Given the description of an element on the screen output the (x, y) to click on. 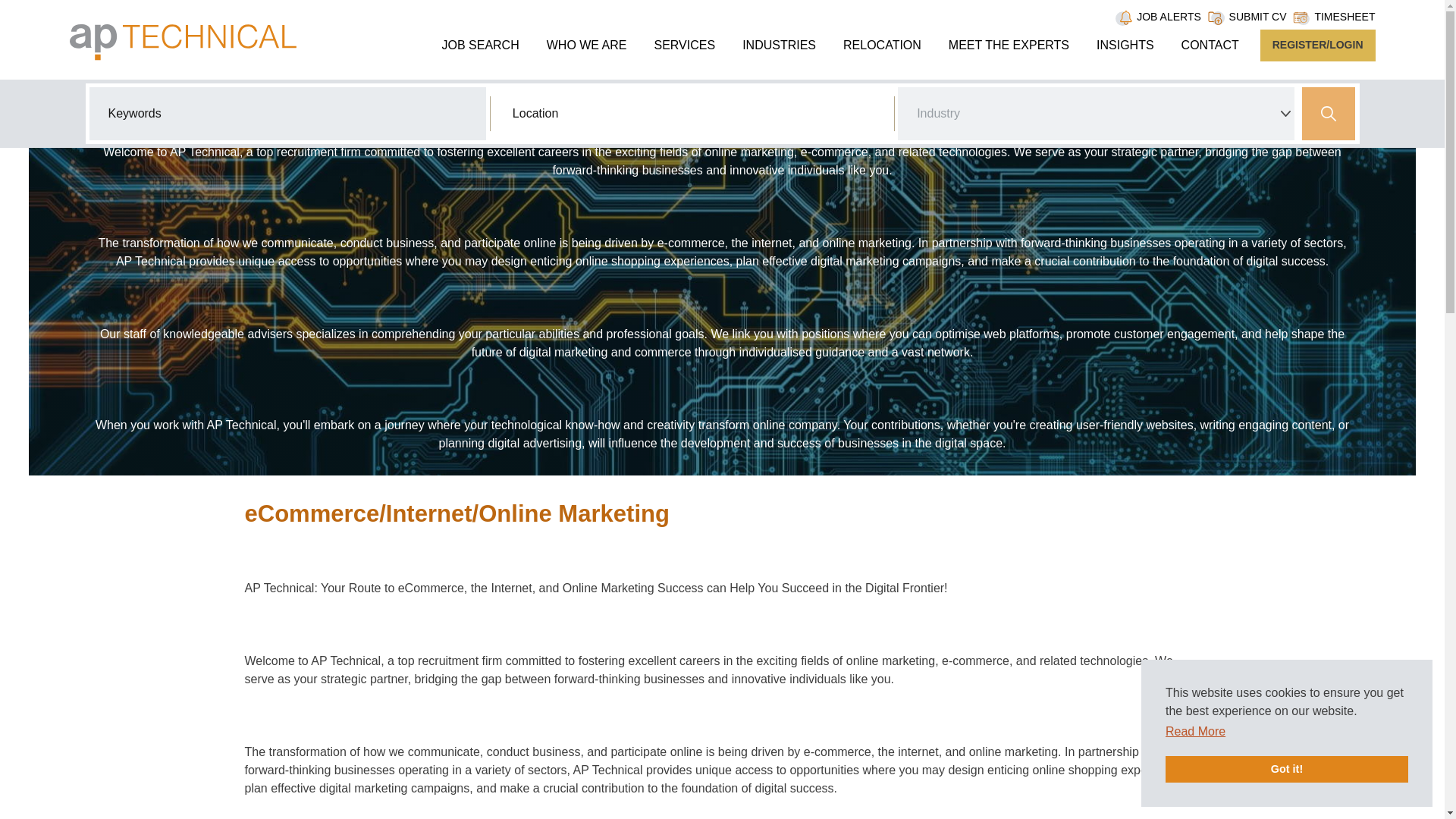
JOB ALERTS (1169, 17)
INDUSTRIES (779, 45)
JOB SEARCH (479, 45)
Read More (1195, 731)
SERVICES (683, 45)
Search Jobs (1328, 113)
WHO WE ARE (586, 45)
TIMESHEET (1344, 17)
SUBMIT CV (1257, 17)
Got it! (1286, 768)
